Given the description of an element on the screen output the (x, y) to click on. 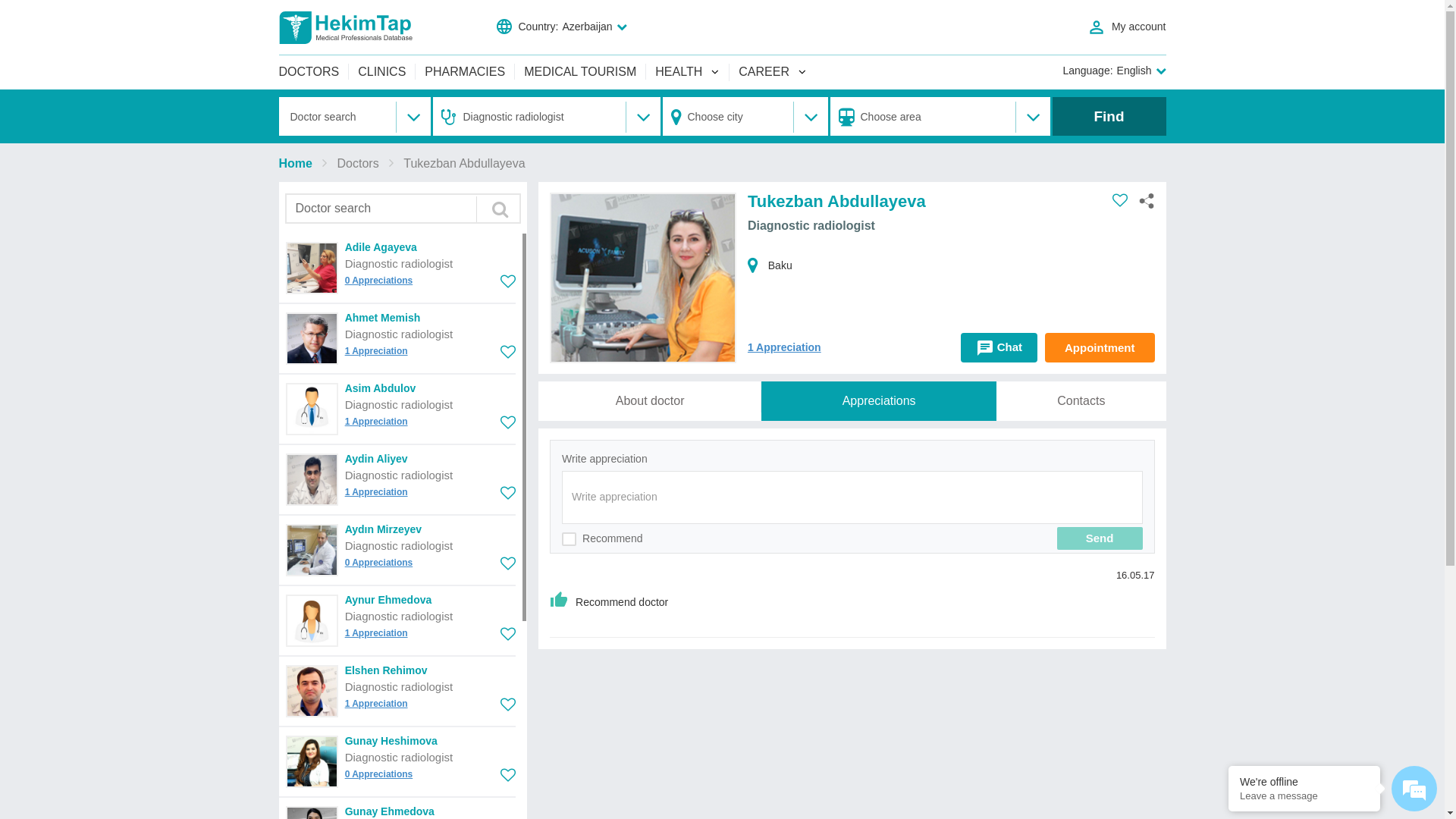
Diagnostic radiologist Element type: text (399, 686)
Contacts Element type: text (1080, 400)
Ahmet Memish Element type: text (382, 317)
Diagnostic radiologist Element type: text (399, 756)
1 Appreciation Element type: text (784, 347)
Diagnostic radiologist Element type: text (399, 474)
MEDICAL TOURISM Element type: text (579, 71)
Diagnostic radiologist Element type: text (399, 333)
Elshen Rehimov Element type: text (386, 670)
Appointment Element type: text (1099, 347)
DOCTORS Element type: text (313, 71)
1 Appreciation Element type: text (376, 350)
Send Element type: text (1099, 538)
About doctor Element type: text (649, 400)
1 Appreciation Element type: text (376, 421)
1 Appreciation Element type: text (376, 632)
Home Element type: text (295, 162)
Tukezban Abdullayeva Element type: text (463, 162)
Find Element type: text (1109, 116)
Asim Abdulov Element type: text (380, 388)
0 Appreciations Element type: text (379, 773)
0 Appreciations Element type: text (379, 280)
PHARMACIES Element type: text (464, 71)
1 Appreciation Element type: text (376, 703)
Diagnostic radiologist Element type: text (399, 545)
1 Appreciation Element type: text (376, 491)
CLINICS Element type: text (381, 71)
Diagnostic radiologist Element type: text (399, 404)
Diagnostic radiologist Element type: text (811, 225)
Diagnostic radiologist Element type: text (399, 615)
Gunay Heshimova Element type: text (391, 740)
Appreciations Element type: text (878, 400)
0 Appreciations Element type: text (379, 562)
Chat Element type: text (999, 347)
Doctors Element type: text (358, 162)
Aynur Ehmedova Element type: text (388, 599)
Diagnostic radiologist Element type: text (399, 263)
Adile Agayeva Element type: text (381, 247)
Gunay Ehmedova Element type: text (389, 811)
Aydin Aliyev Element type: text (376, 458)
